Given the description of an element on the screen output the (x, y) to click on. 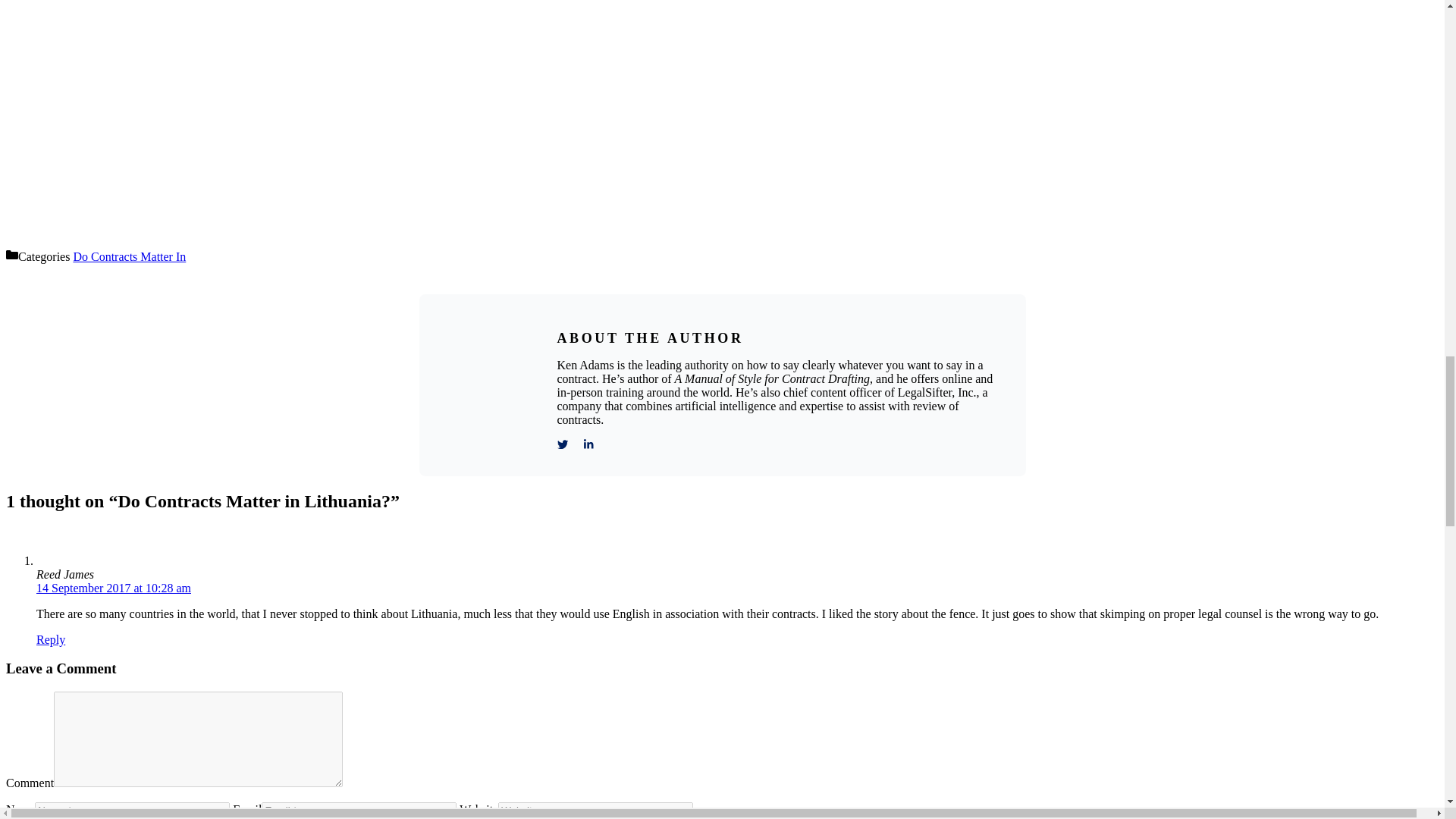
14 September 2017 at 10:28 am (113, 587)
Reply (50, 639)
Do Contracts Matter In (129, 256)
